Given the description of an element on the screen output the (x, y) to click on. 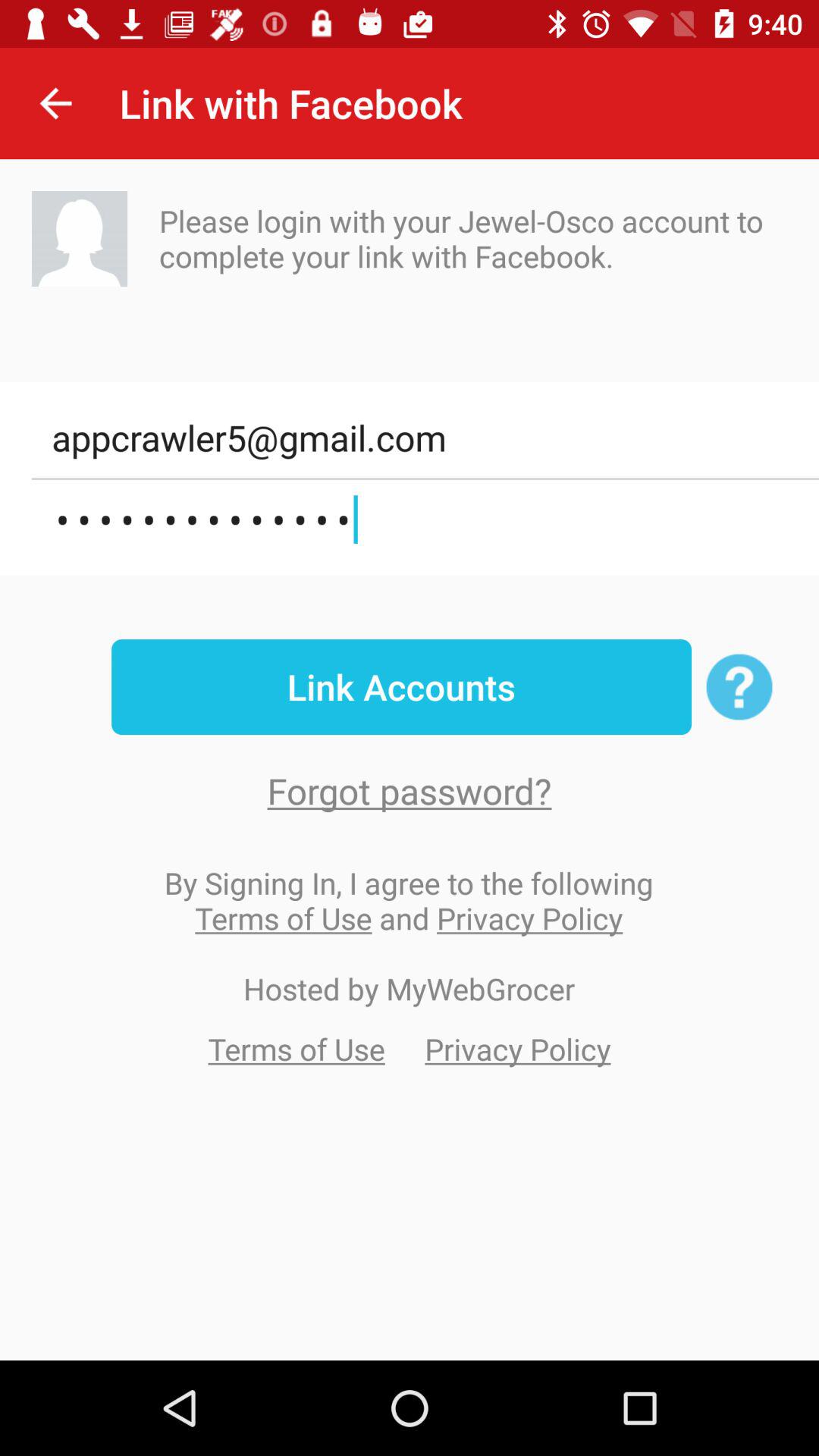
open appcrawler3116 icon (425, 519)
